Given the description of an element on the screen output the (x, y) to click on. 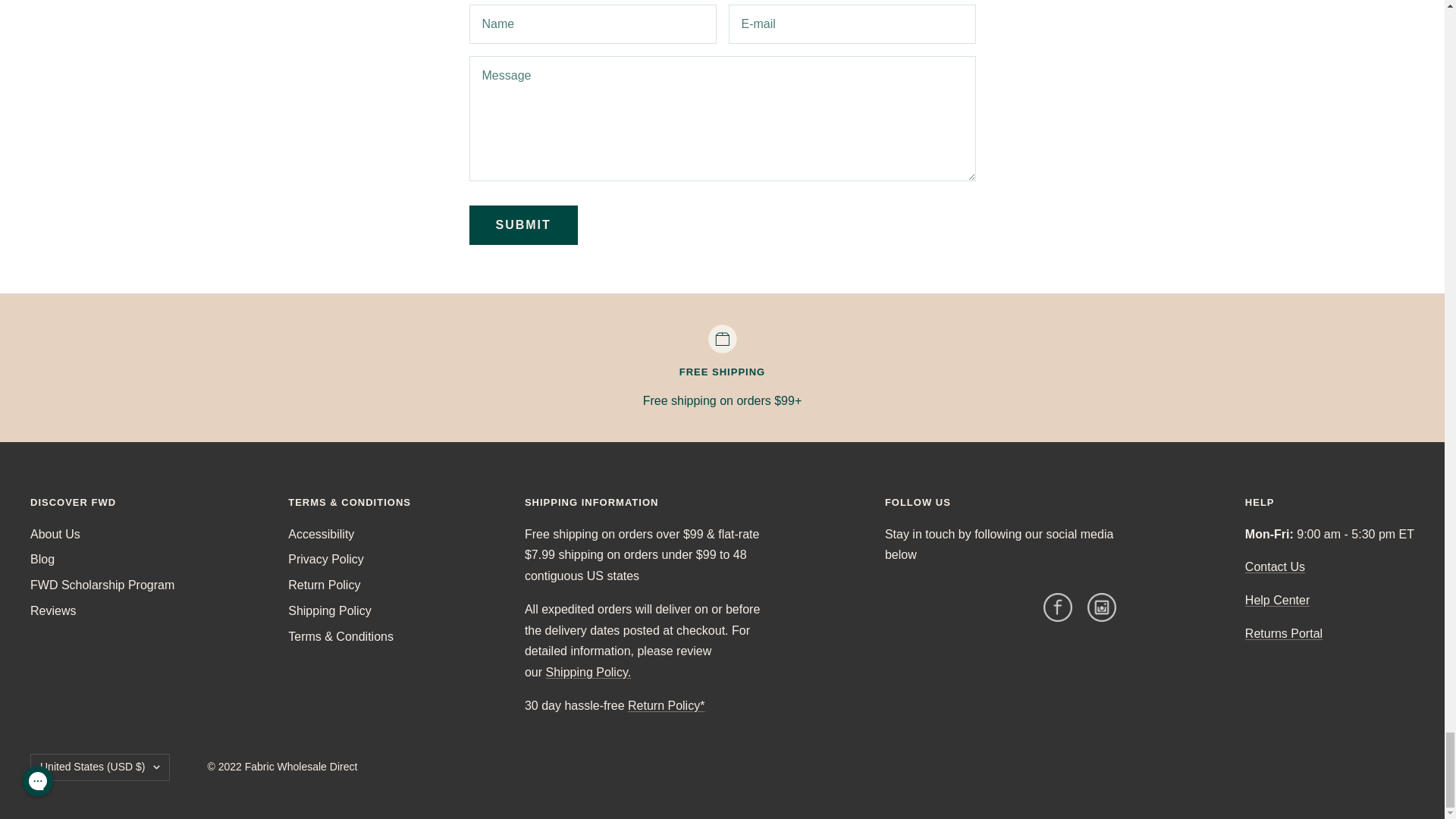
Returns portal (1283, 633)
Help Center (1276, 599)
Contact Us (1274, 566)
